Given the description of an element on the screen output the (x, y) to click on. 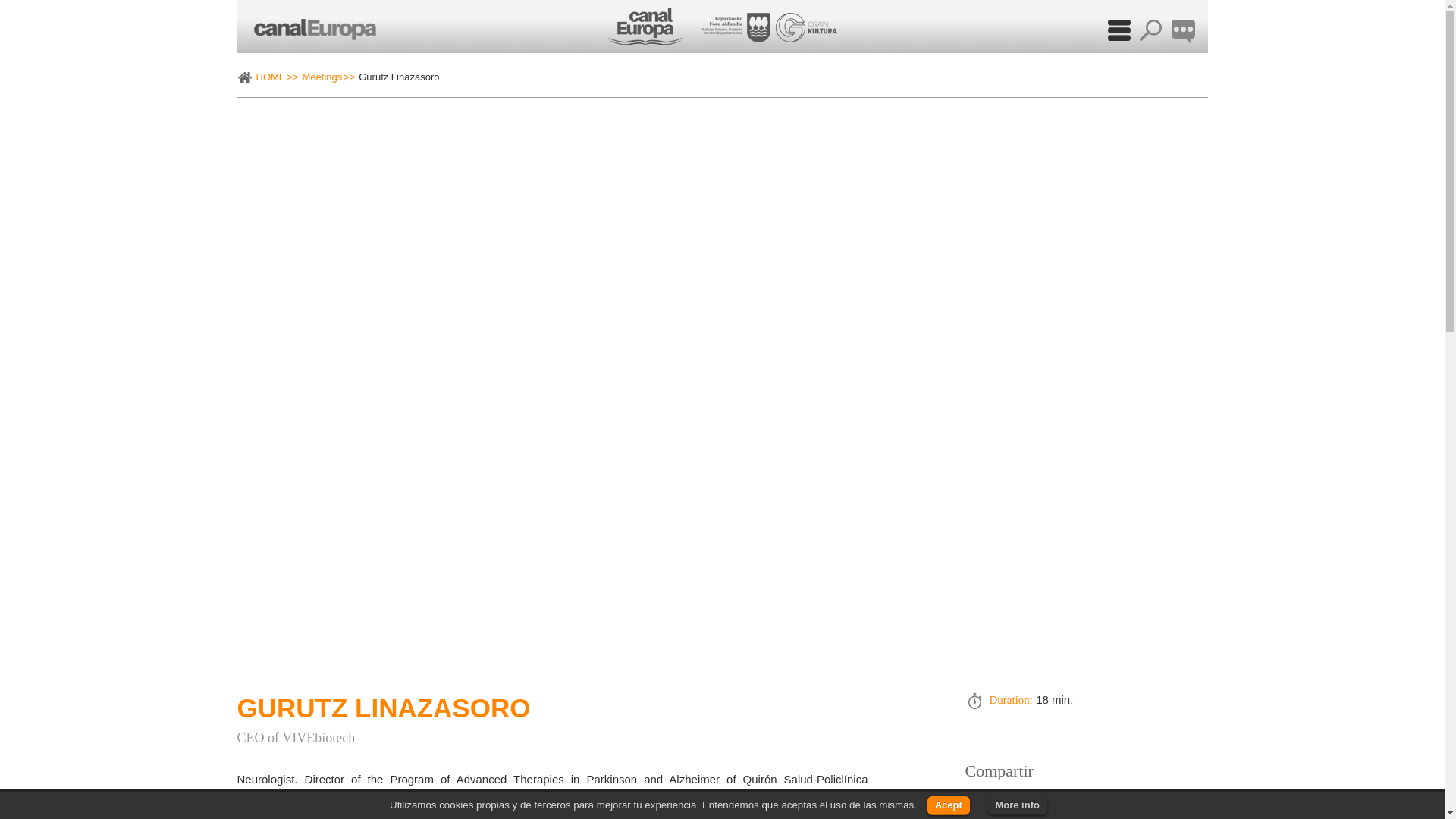
Meetings (328, 76)
HOME (277, 76)
Share: Email: Gurutz Linazasoro (1112, 800)
Share: Twitter: Gurutz Linazasoro (975, 800)
Share: LinkedIn: Gurutz Linazasoro (1044, 800)
Share: Facebook: Gurutz Linazasoro (1010, 800)
